Given the description of an element on the screen output the (x, y) to click on. 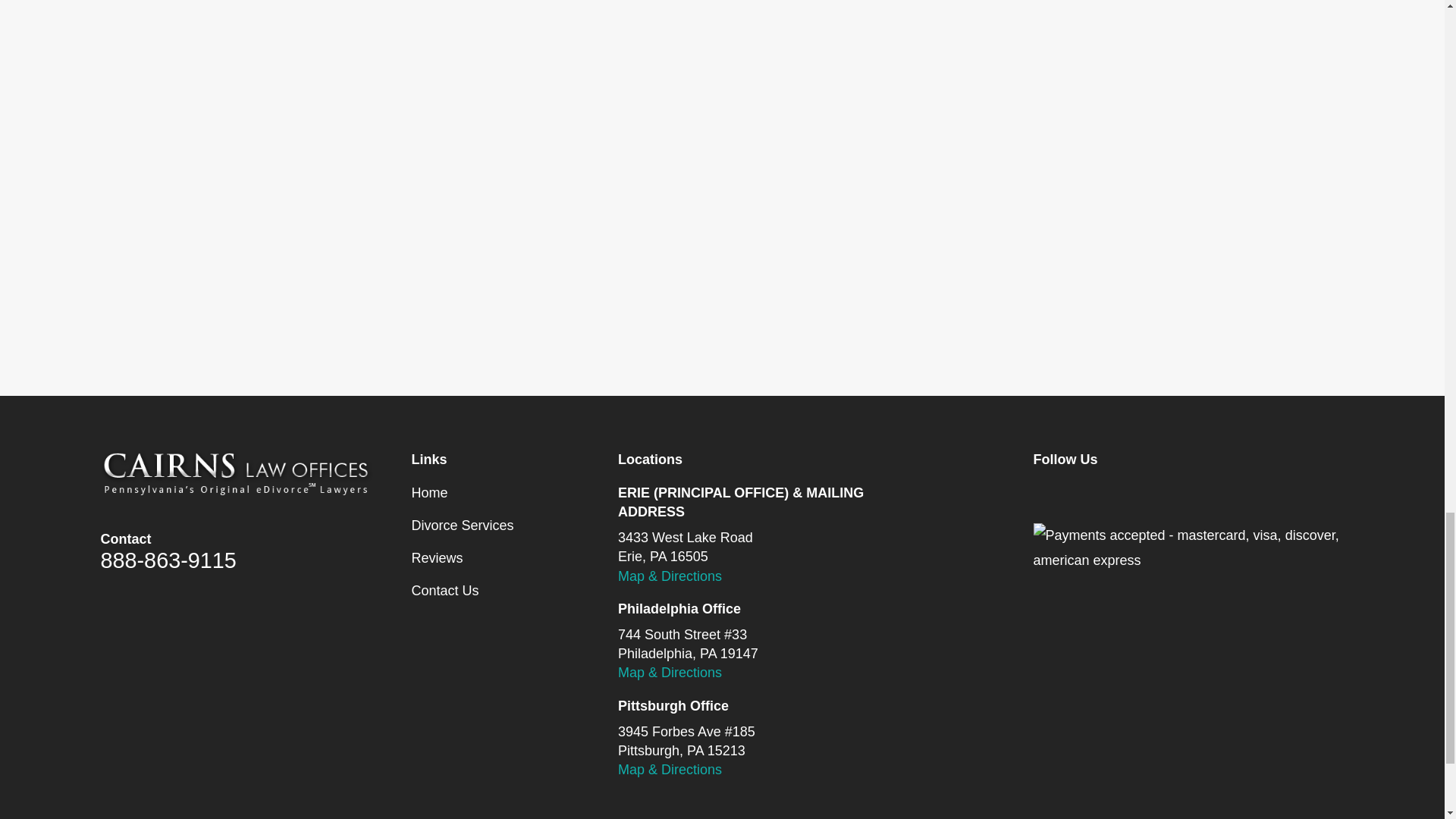
LinkedIn (1140, 493)
Avvo (1239, 493)
Home (236, 472)
Google Business Profile (1189, 493)
Facebook (1041, 493)
Twitter (1090, 493)
